Given the description of an element on the screen output the (x, y) to click on. 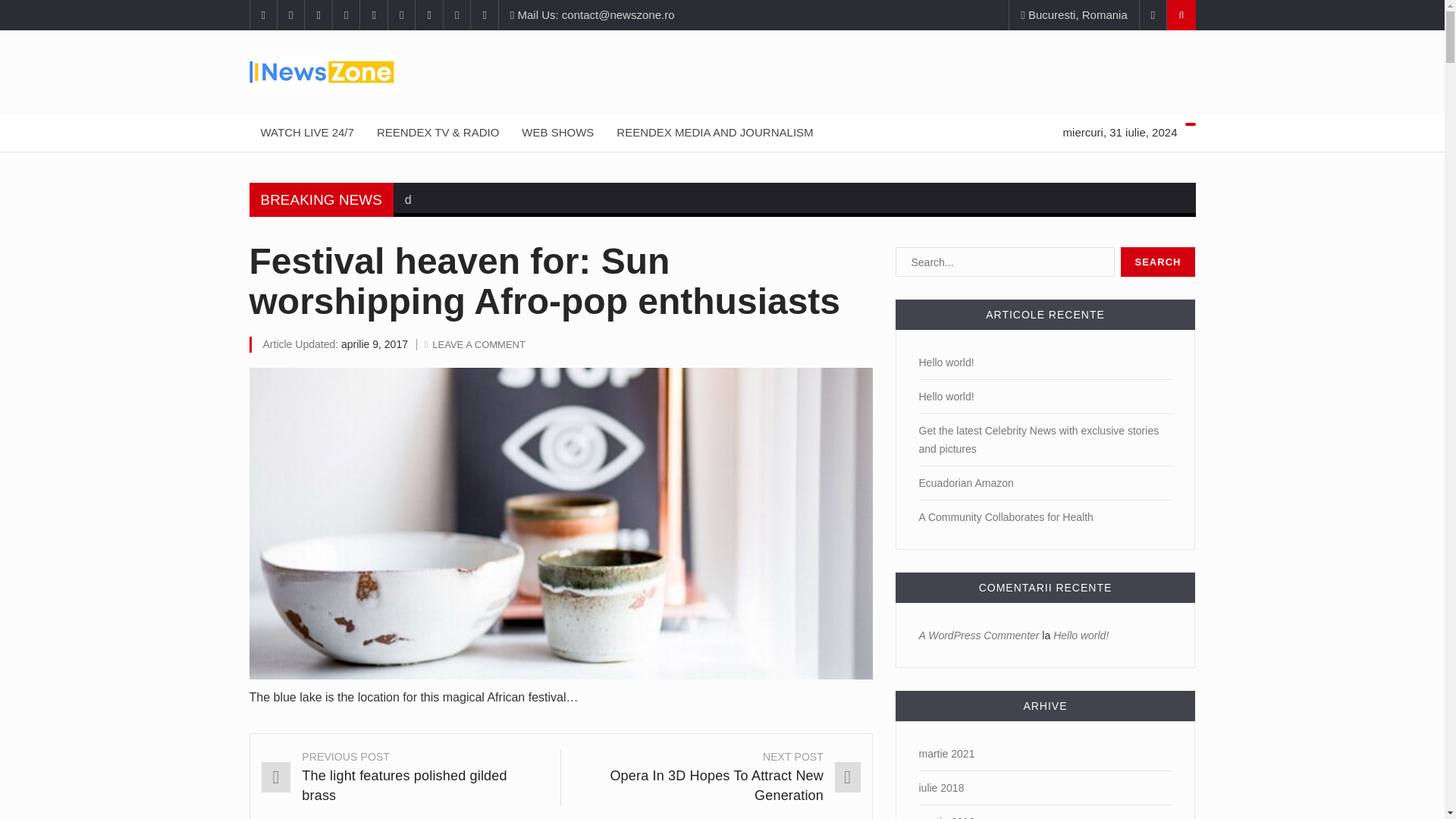
Bucuresti, Romania (1073, 15)
WEB SHOWS (558, 132)
Newszone (721, 71)
REENDEX MEDIA AND JOURNALISM (714, 132)
Search (1158, 261)
Search (1158, 261)
